Given the description of an element on the screen output the (x, y) to click on. 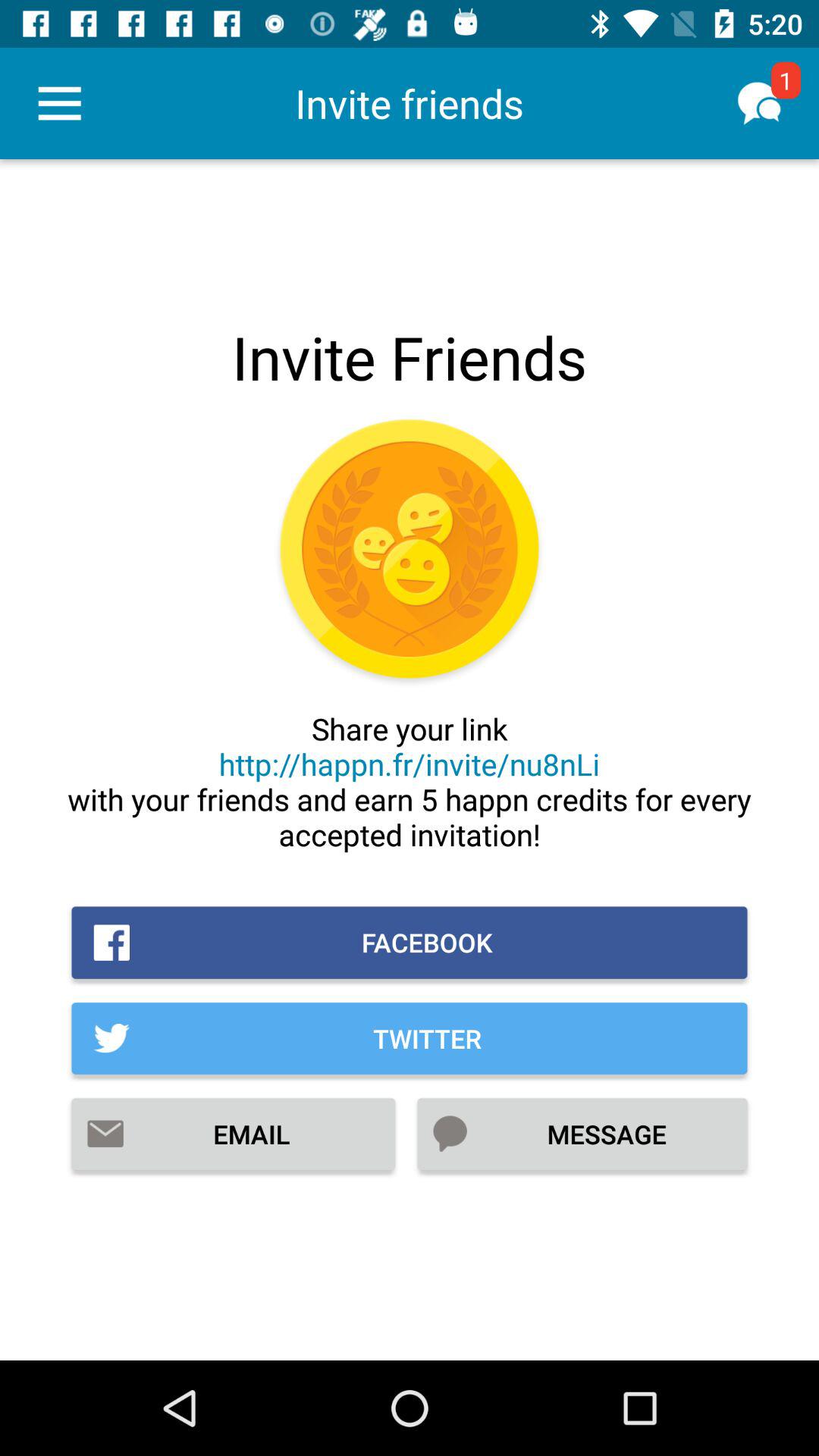
turn on the icon next to the message (233, 1133)
